Given the description of an element on the screen output the (x, y) to click on. 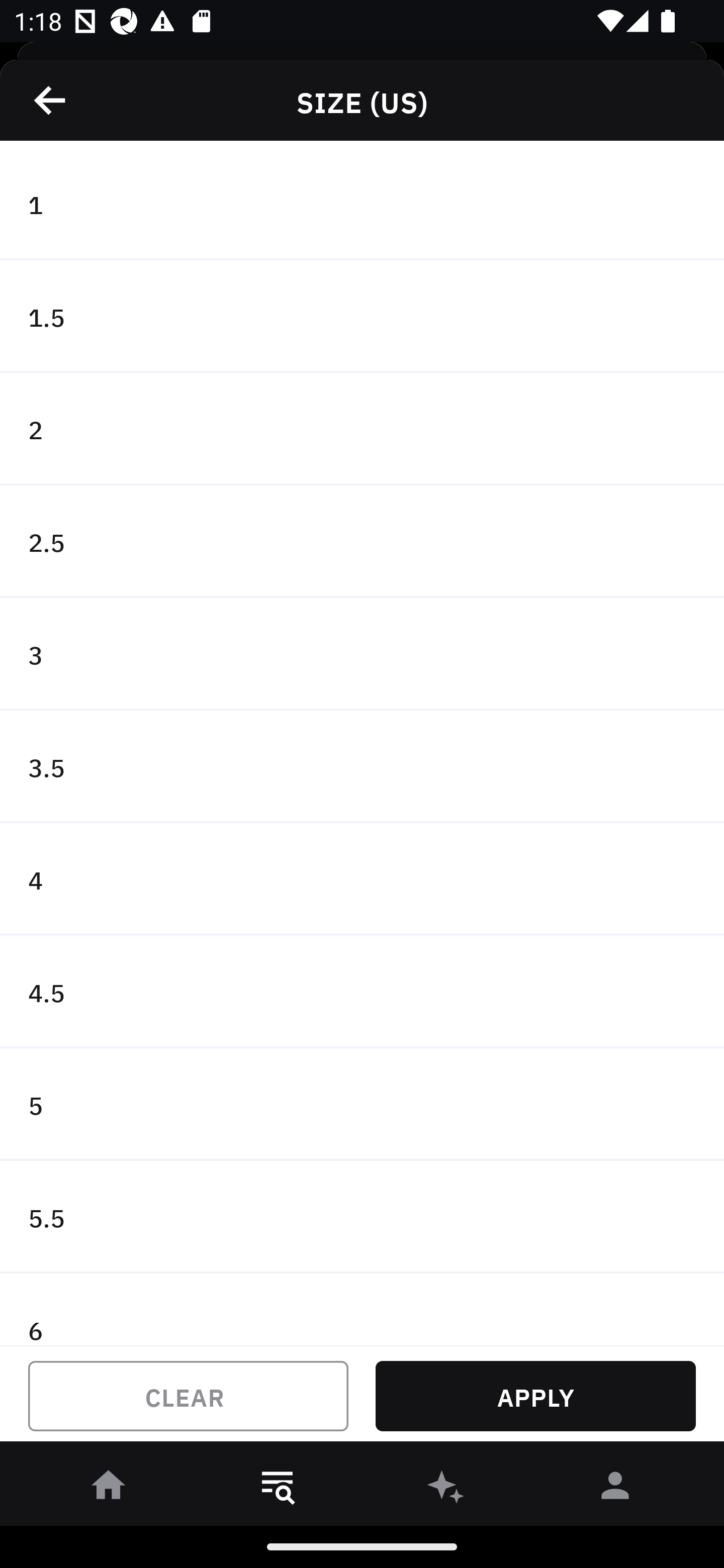
 (50, 100)
1 (362, 203)
1.5 (362, 316)
2 (362, 429)
2.5 (362, 541)
3 (362, 653)
3.5 (362, 766)
4 (362, 879)
4.5 (362, 992)
5 (362, 1104)
5.5 (362, 1216)
6 (362, 1309)
CLEAR  (188, 1396)
APPLY (535, 1396)
󰋜 (108, 1488)
󱎸 (277, 1488)
󰫢 (446, 1488)
󰀄 (615, 1488)
